Given the description of an element on the screen output the (x, y) to click on. 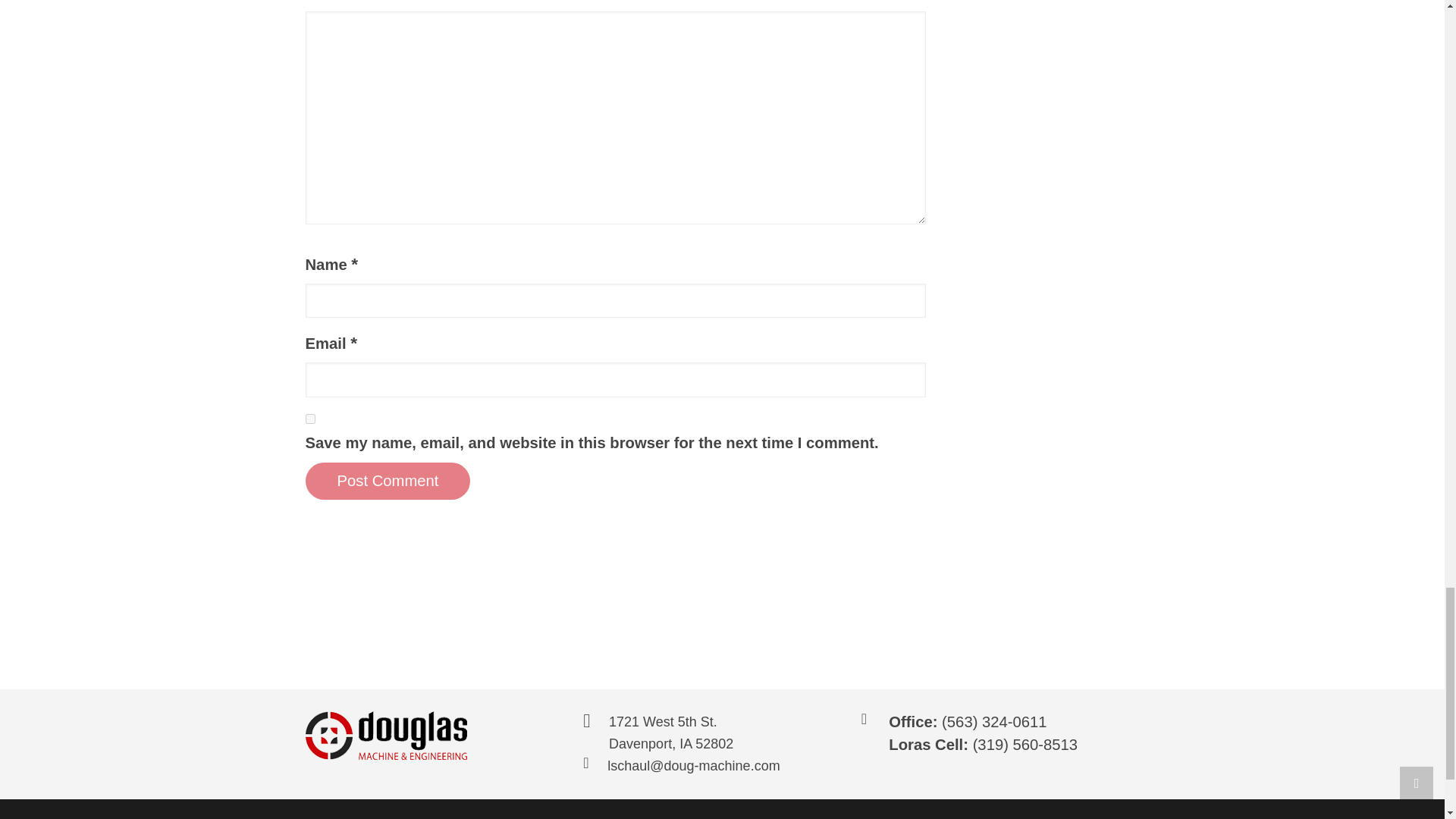
Post Comment (387, 480)
yes (309, 419)
Post Comment (387, 480)
